Given the description of an element on the screen output the (x, y) to click on. 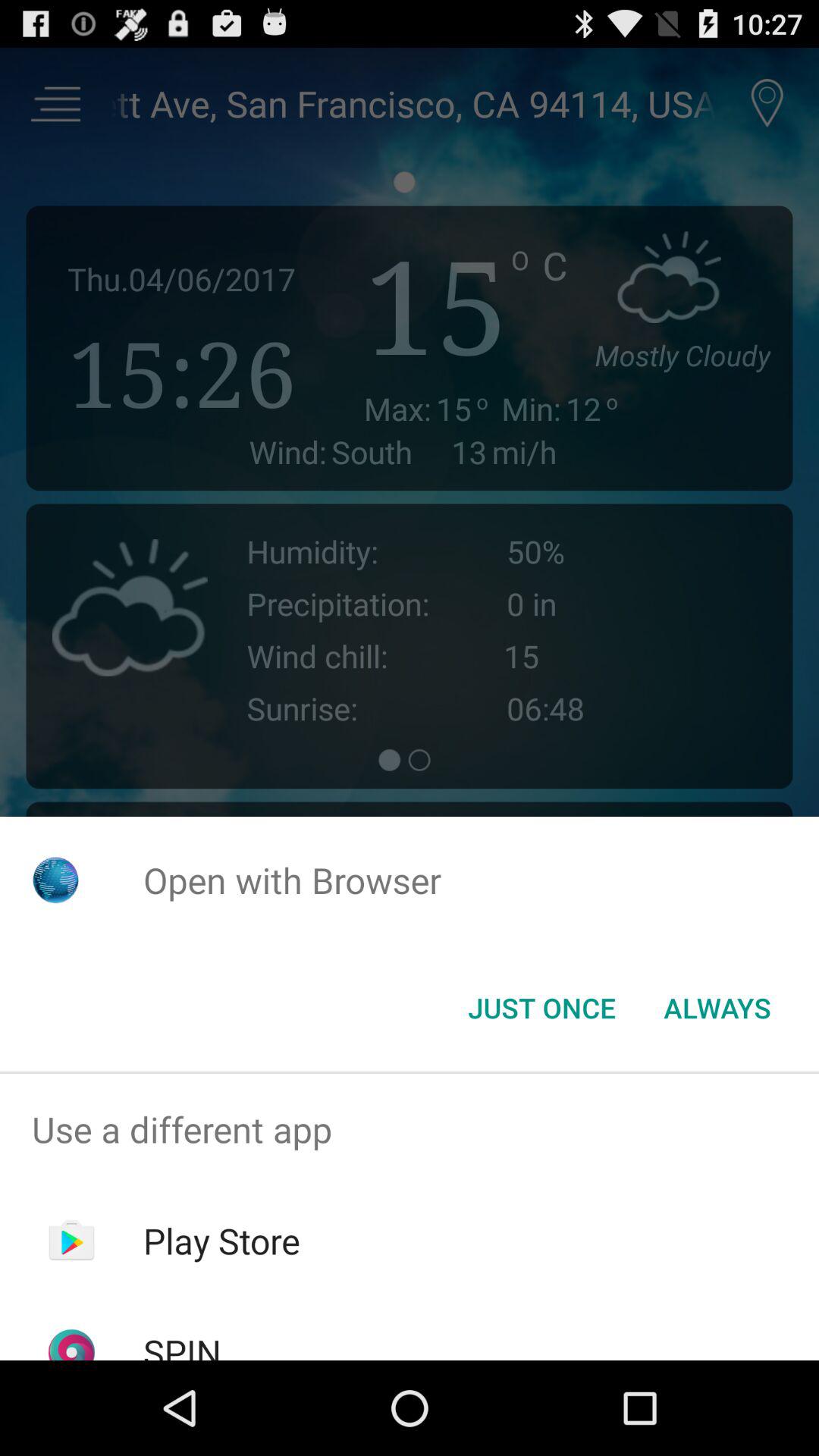
select item above the play store item (409, 1129)
